Given the description of an element on the screen output the (x, y) to click on. 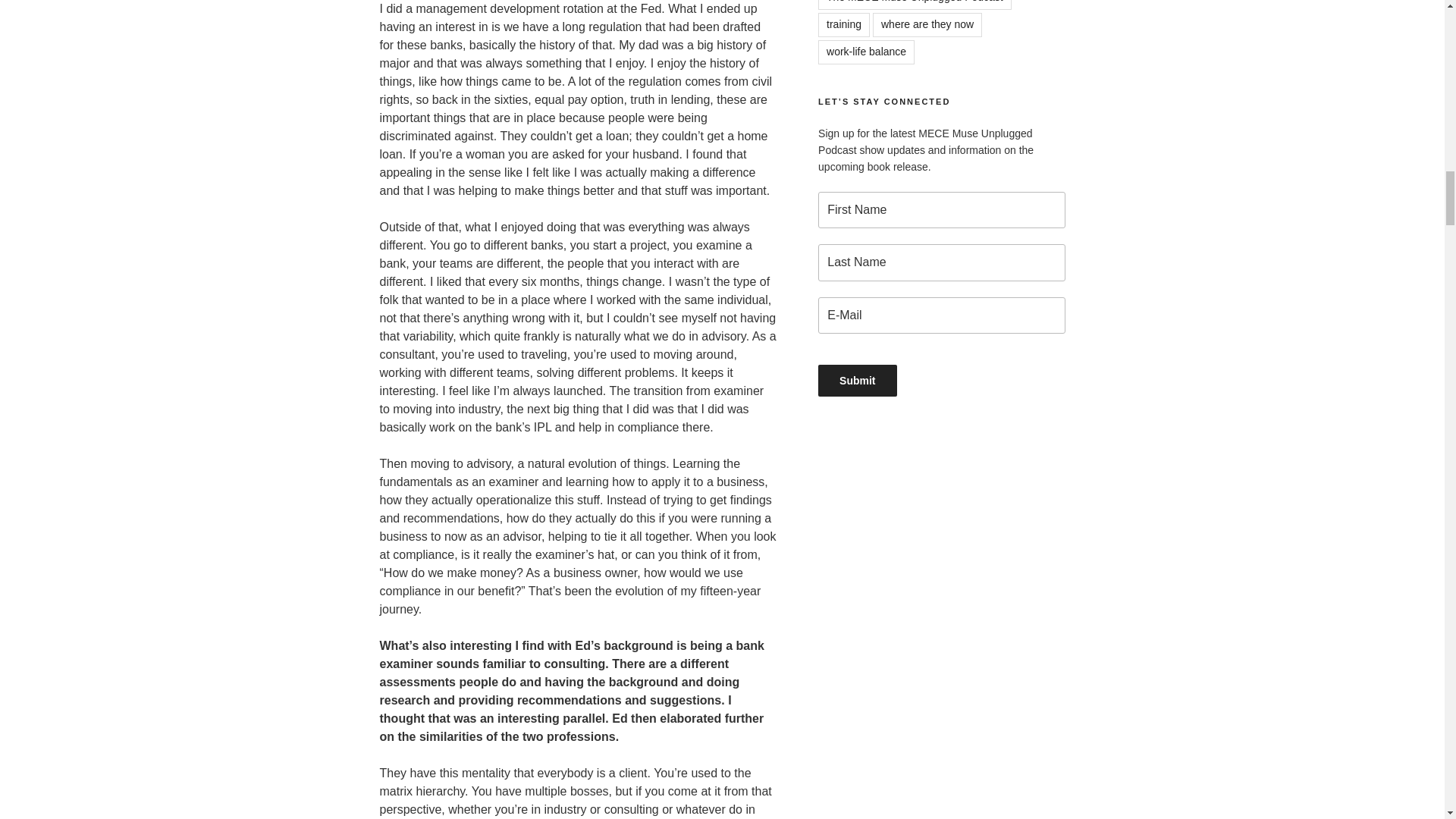
Submit (857, 380)
